Given the description of an element on the screen output the (x, y) to click on. 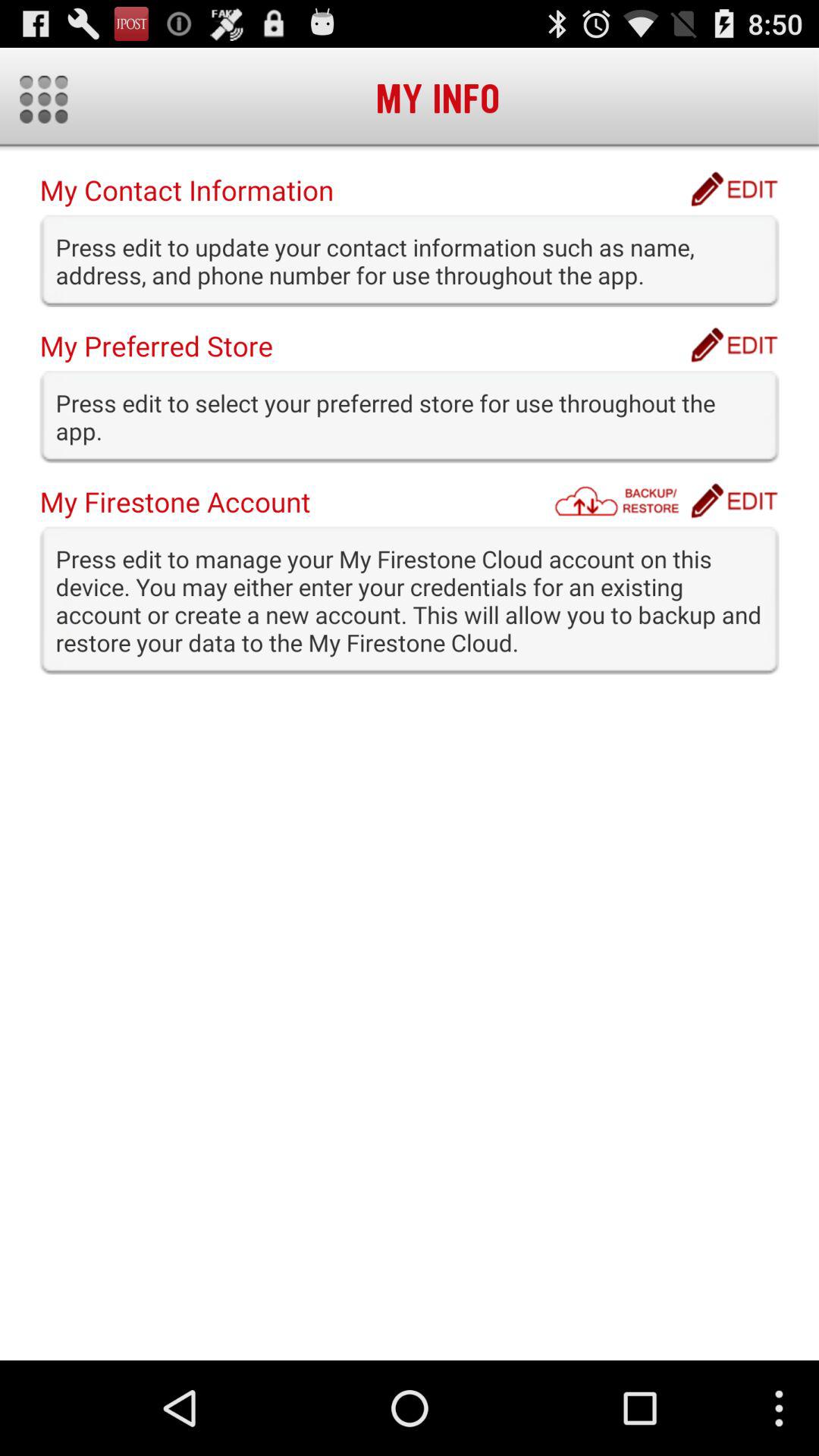
open app above the press edit to app (734, 500)
